Given the description of an element on the screen output the (x, y) to click on. 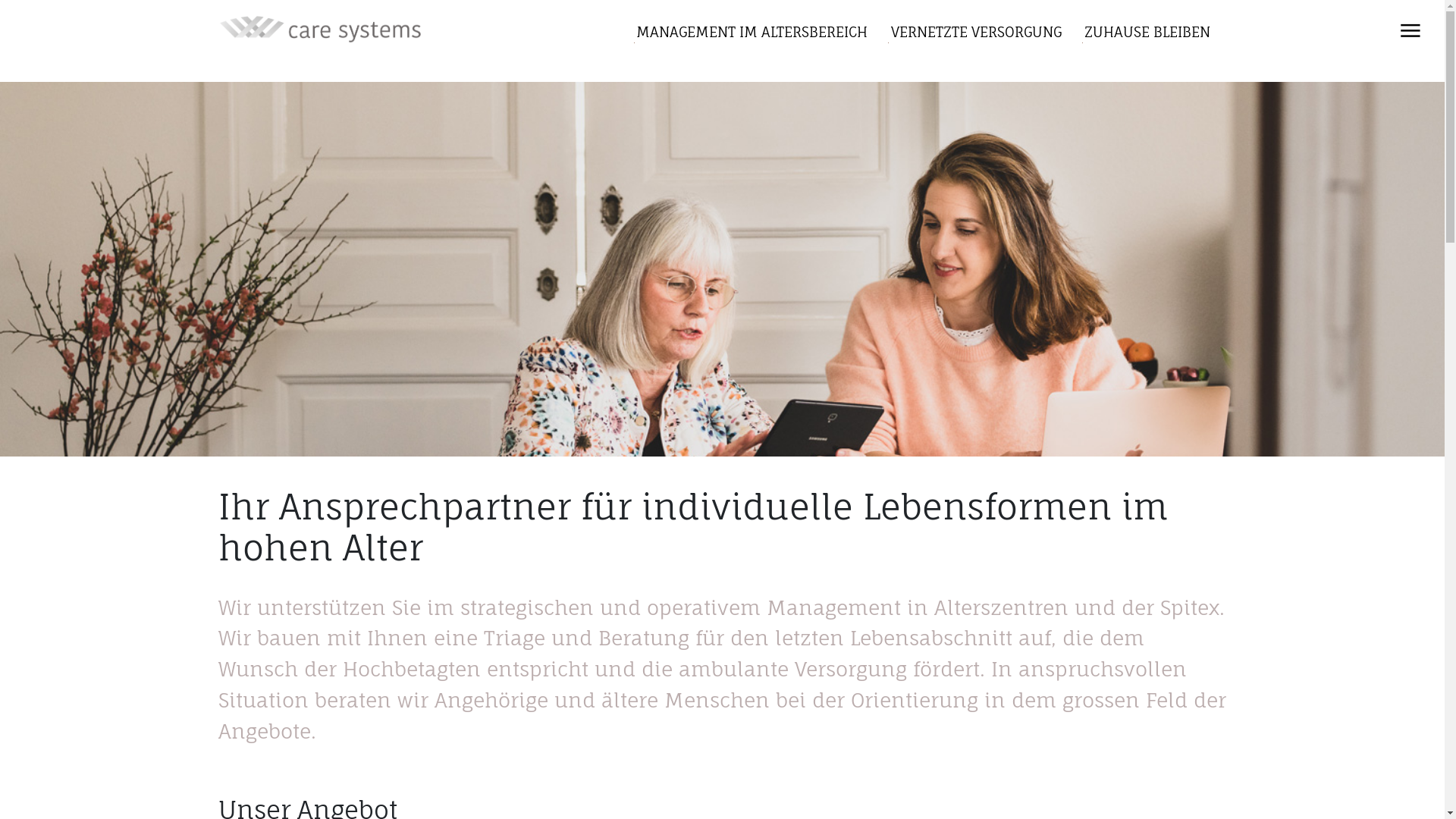
VERNETZTE VERSORGUNG Element type: text (968, 42)
MANAGEMENT IM ALTERSBEREICH Element type: text (744, 42)
ZUHAUSE BLEIBEN Element type: text (1140, 42)
